Given the description of an element on the screen output the (x, y) to click on. 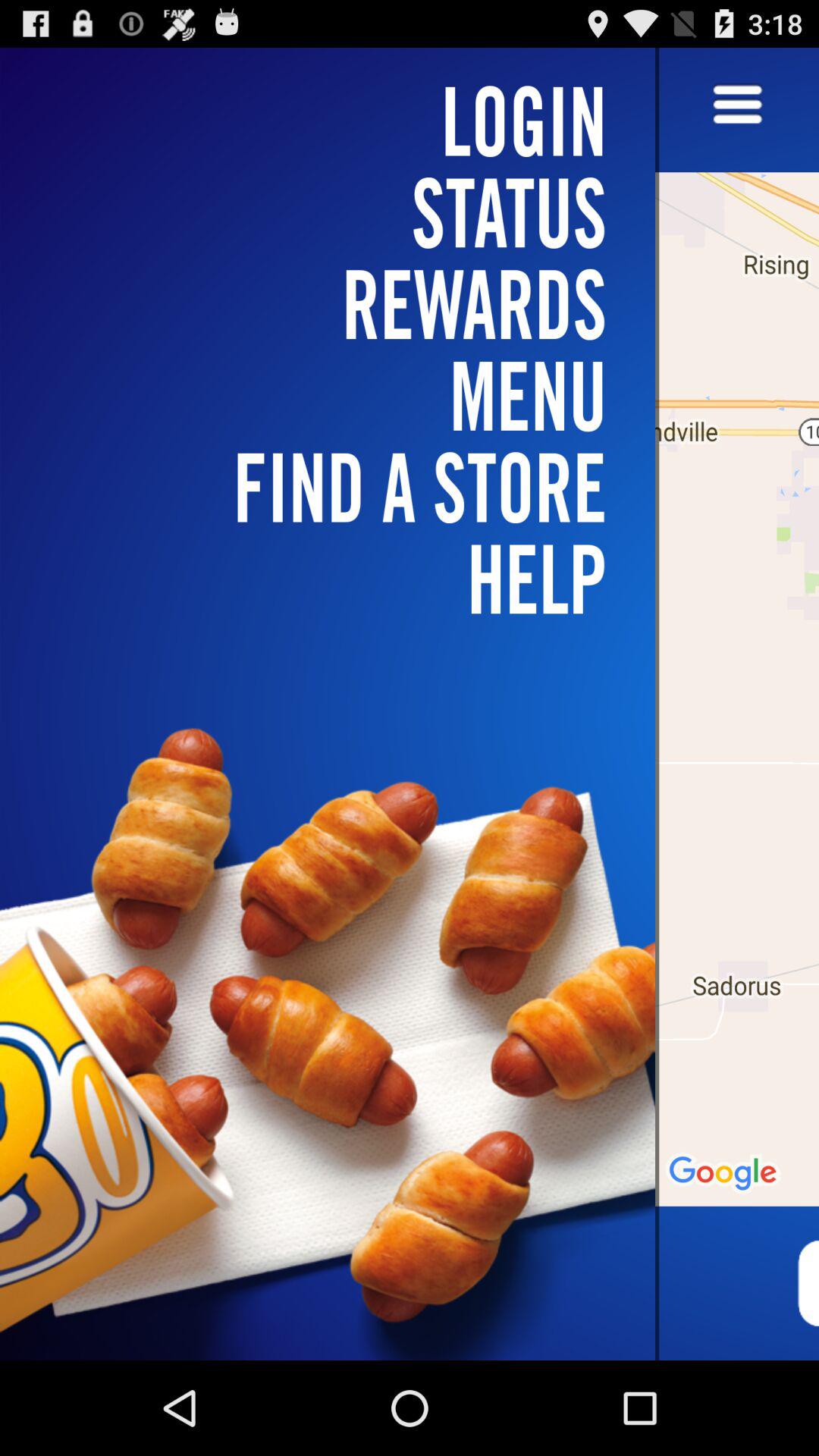
turn off login icon (336, 120)
